Given the description of an element on the screen output the (x, y) to click on. 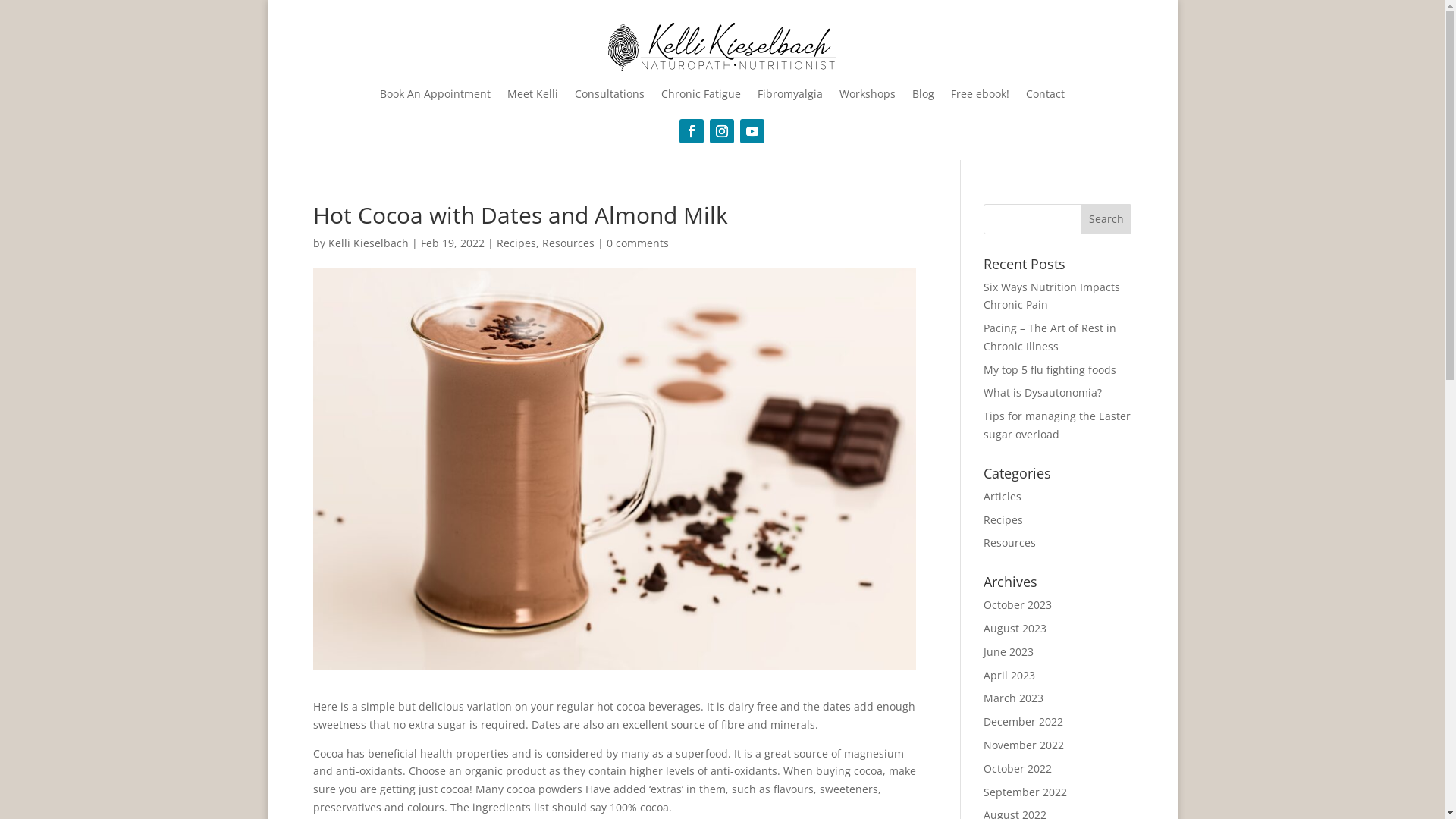
Six Ways Nutrition Impacts Chronic Pain Element type: text (1051, 295)
Tips for managing the Easter sugar overload Element type: text (1056, 424)
September 2022 Element type: text (1024, 791)
Articles Element type: text (1002, 496)
April 2023 Element type: text (1009, 675)
August 2023 Element type: text (1014, 628)
Follow on Facebook Element type: hover (691, 130)
December 2022 Element type: text (1023, 721)
Free ebook! Element type: text (979, 92)
Contact Element type: text (1045, 92)
Chronic Fatigue Element type: text (700, 92)
0 comments Element type: text (637, 242)
Recipes Element type: text (515, 242)
What is Dysautonomia? Element type: text (1042, 392)
Book An Appointment Element type: text (434, 92)
Follow on Instagram Element type: hover (721, 130)
October 2022 Element type: text (1017, 768)
October 2023 Element type: text (1017, 604)
Resources Element type: text (1009, 542)
Search Element type: text (1106, 218)
Recipes Element type: text (1002, 519)
My top 5 flu fighting foods Element type: text (1049, 369)
Meet Kelli Element type: text (532, 92)
Blog Element type: text (923, 92)
Consultations Element type: text (609, 92)
Kelli Kieselbach Element type: text (367, 242)
Follow on Youtube Element type: hover (752, 130)
Resources Element type: text (567, 242)
November 2022 Element type: text (1023, 744)
Workshops Element type: text (867, 92)
Fibromyalgia Element type: text (789, 92)
June 2023 Element type: text (1008, 651)
March 2023 Element type: text (1013, 697)
